Given the description of an element on the screen output the (x, y) to click on. 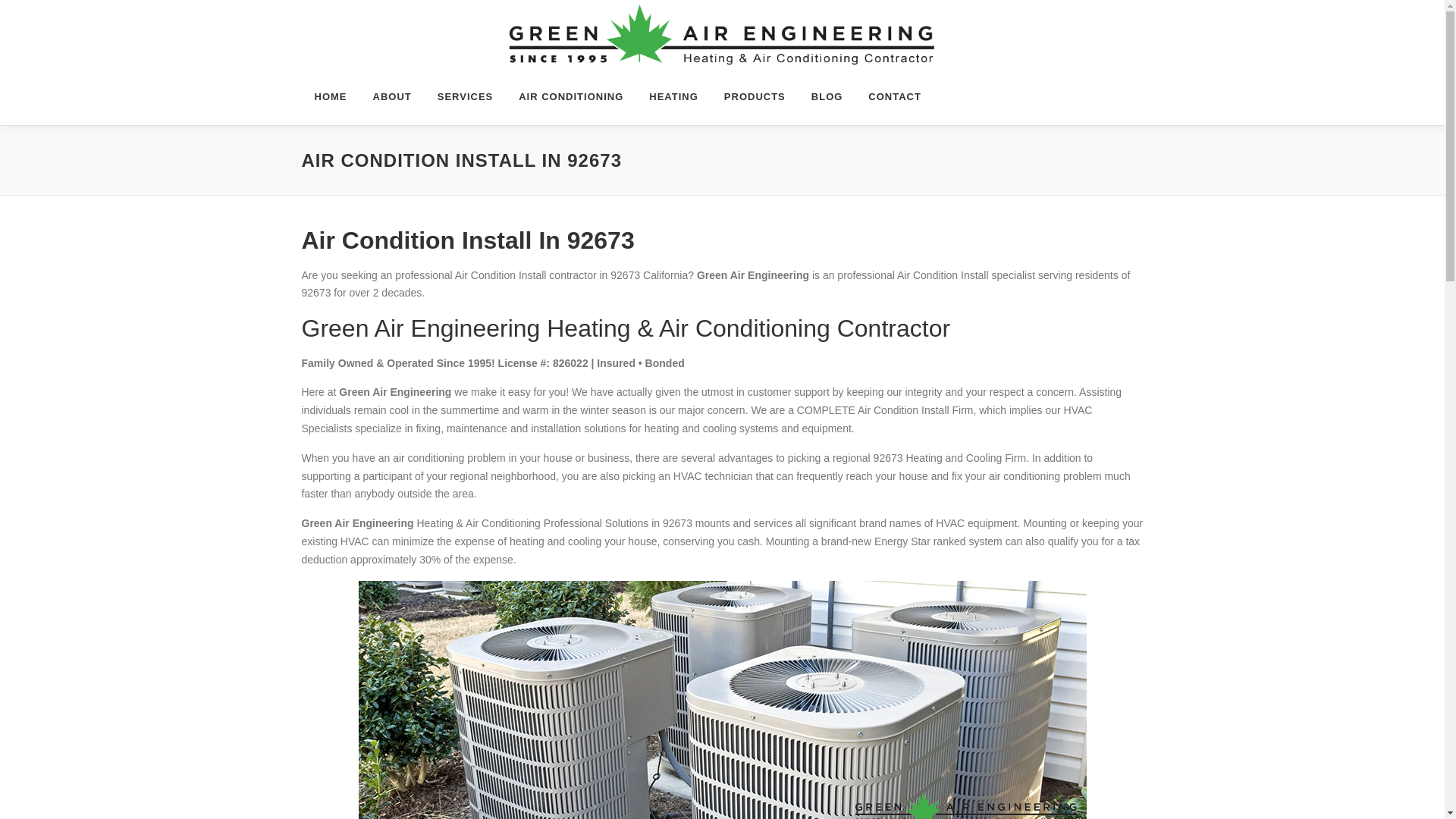
HOME (330, 96)
CONTACT (888, 96)
SERVICES (465, 96)
AIR CONDITIONING (570, 96)
ABOUT (391, 96)
PRODUCTS (754, 96)
HEATING (673, 96)
BLOG (826, 96)
